Given the description of an element on the screen output the (x, y) to click on. 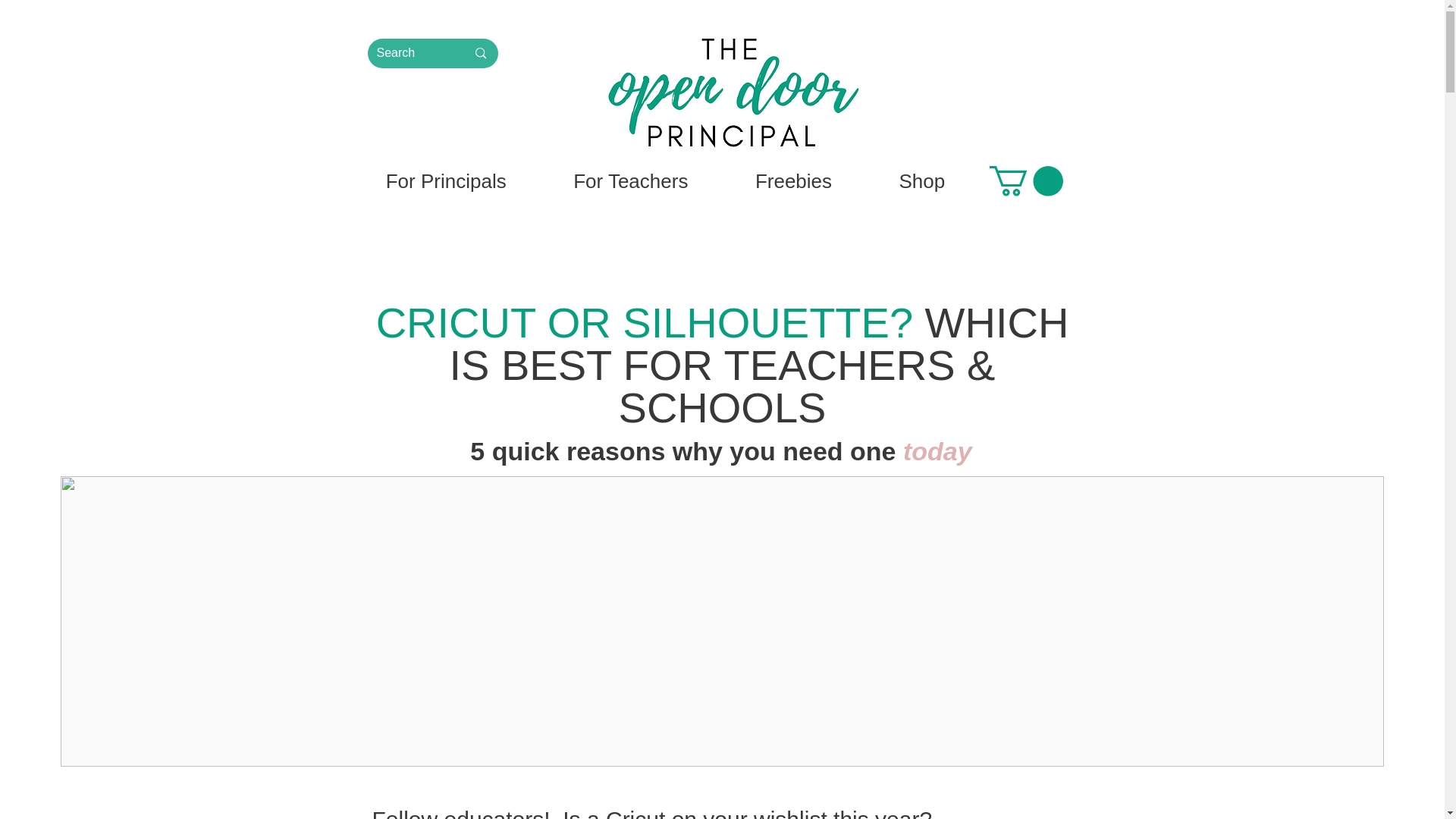
For Teachers (631, 181)
For Principals (445, 181)
Freebies (794, 181)
Shop (921, 181)
